Given the description of an element on the screen output the (x, y) to click on. 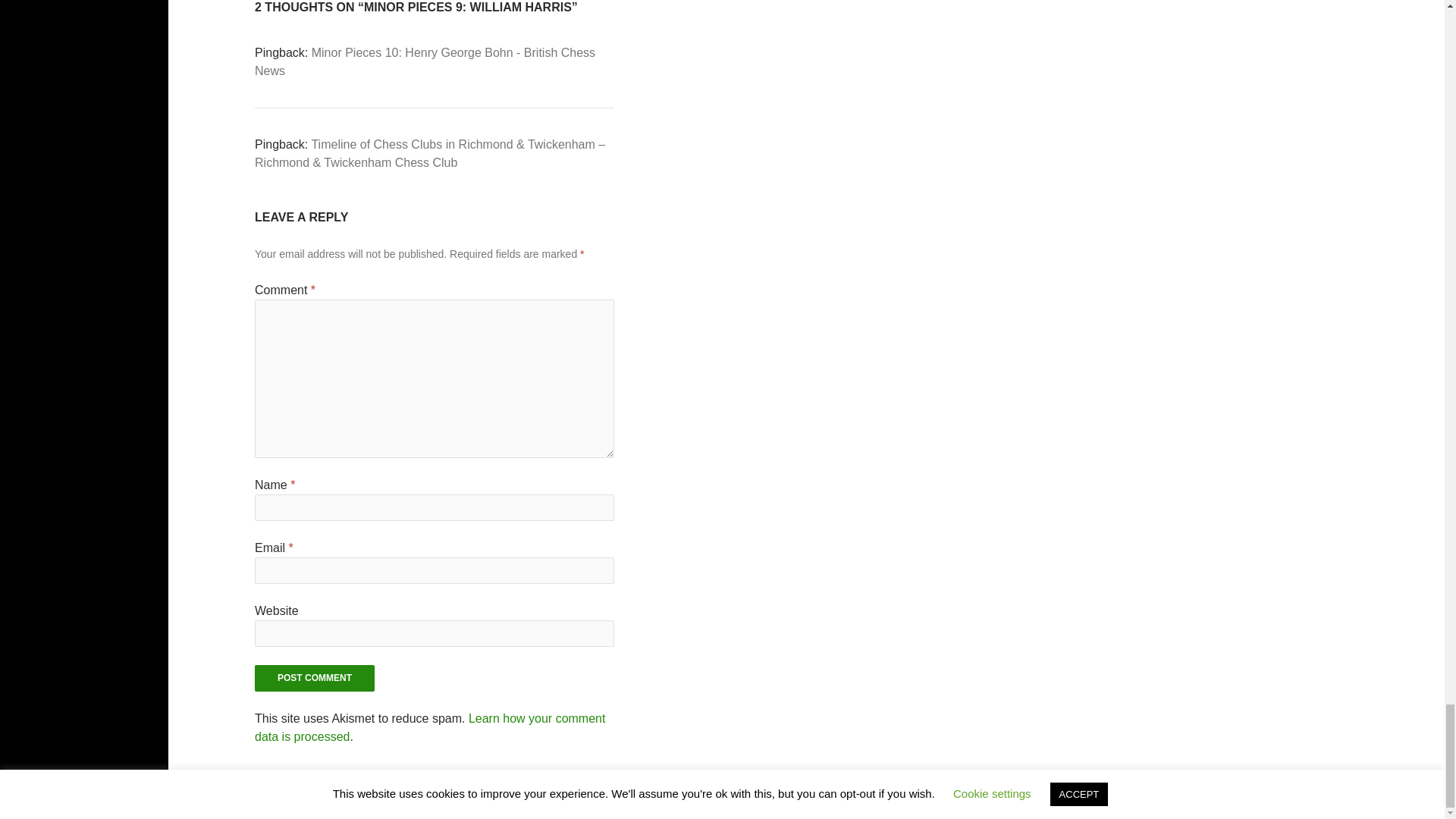
Post Comment (314, 678)
Minor Pieces 10: Henry George Bohn - British Chess News (424, 60)
